Given the description of an element on the screen output the (x, y) to click on. 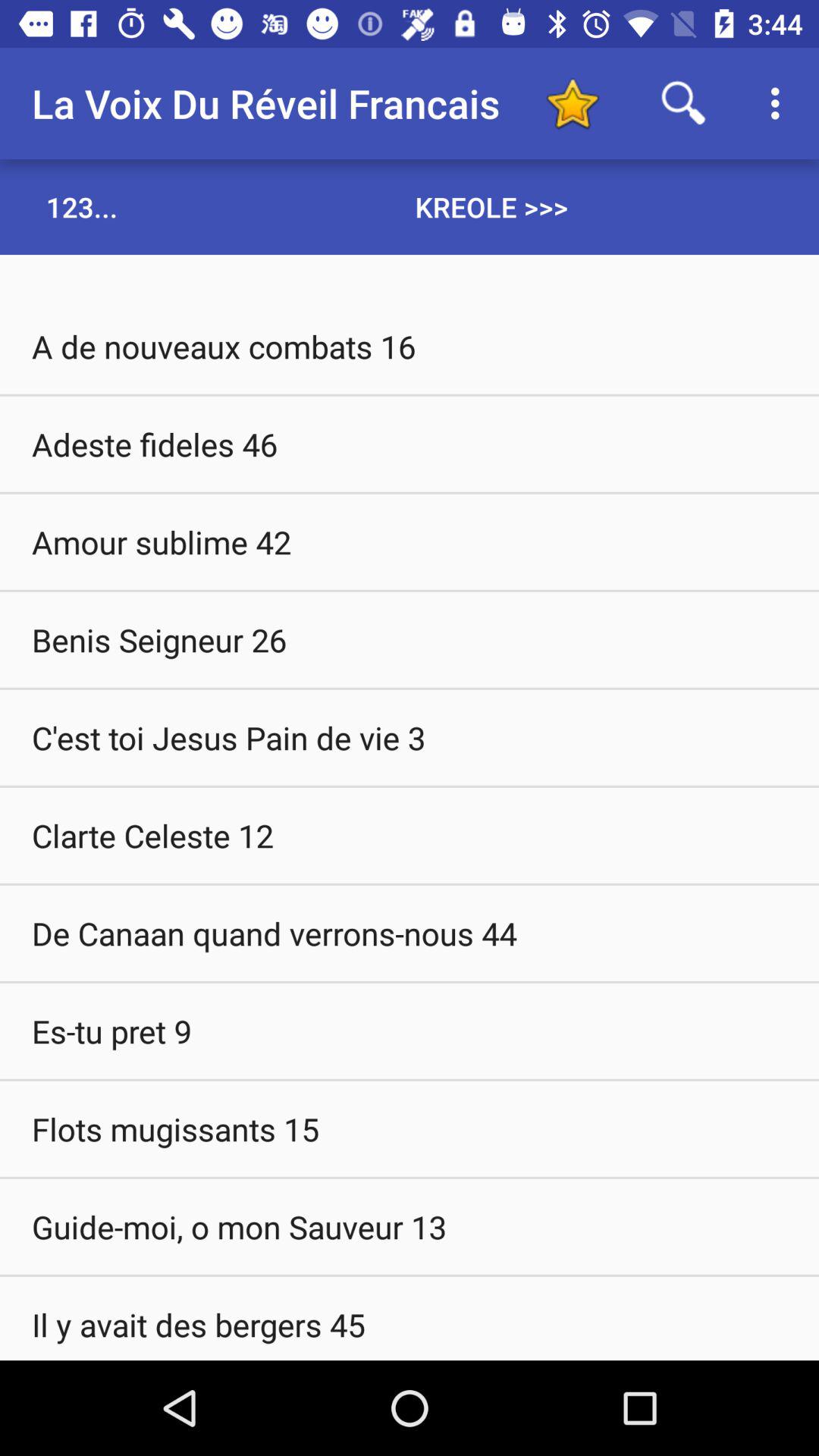
open benis seigneur 26 item (409, 639)
